Given the description of an element on the screen output the (x, y) to click on. 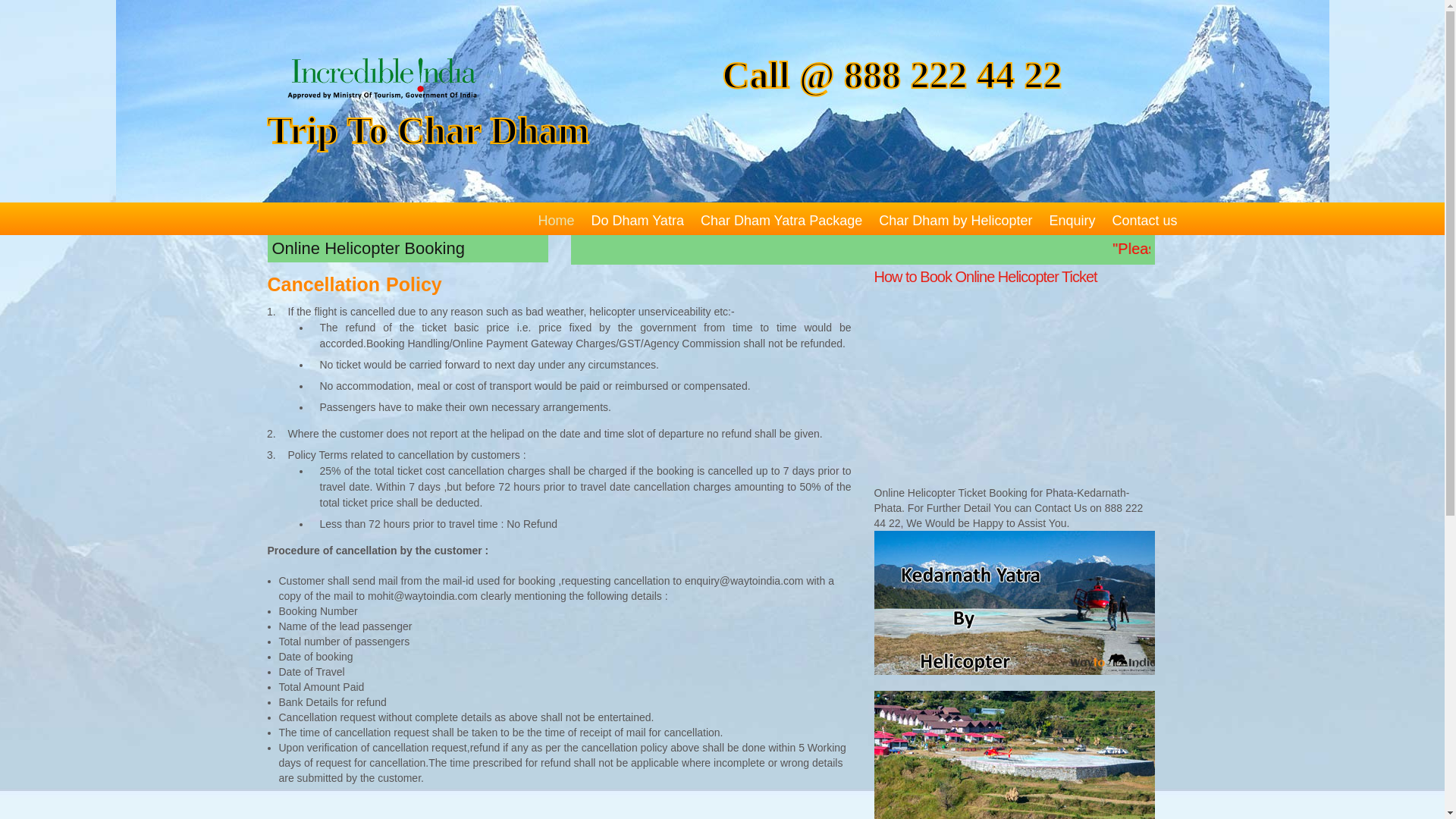
Enquiry (1071, 220)
Char Dham by Helicopter (955, 220)
Home (555, 220)
Char Dham Yatra Package (780, 220)
Contact us (1144, 220)
Trip To Char Dham (482, 130)
Do Dham Yatra (637, 220)
